Given the description of an element on the screen output the (x, y) to click on. 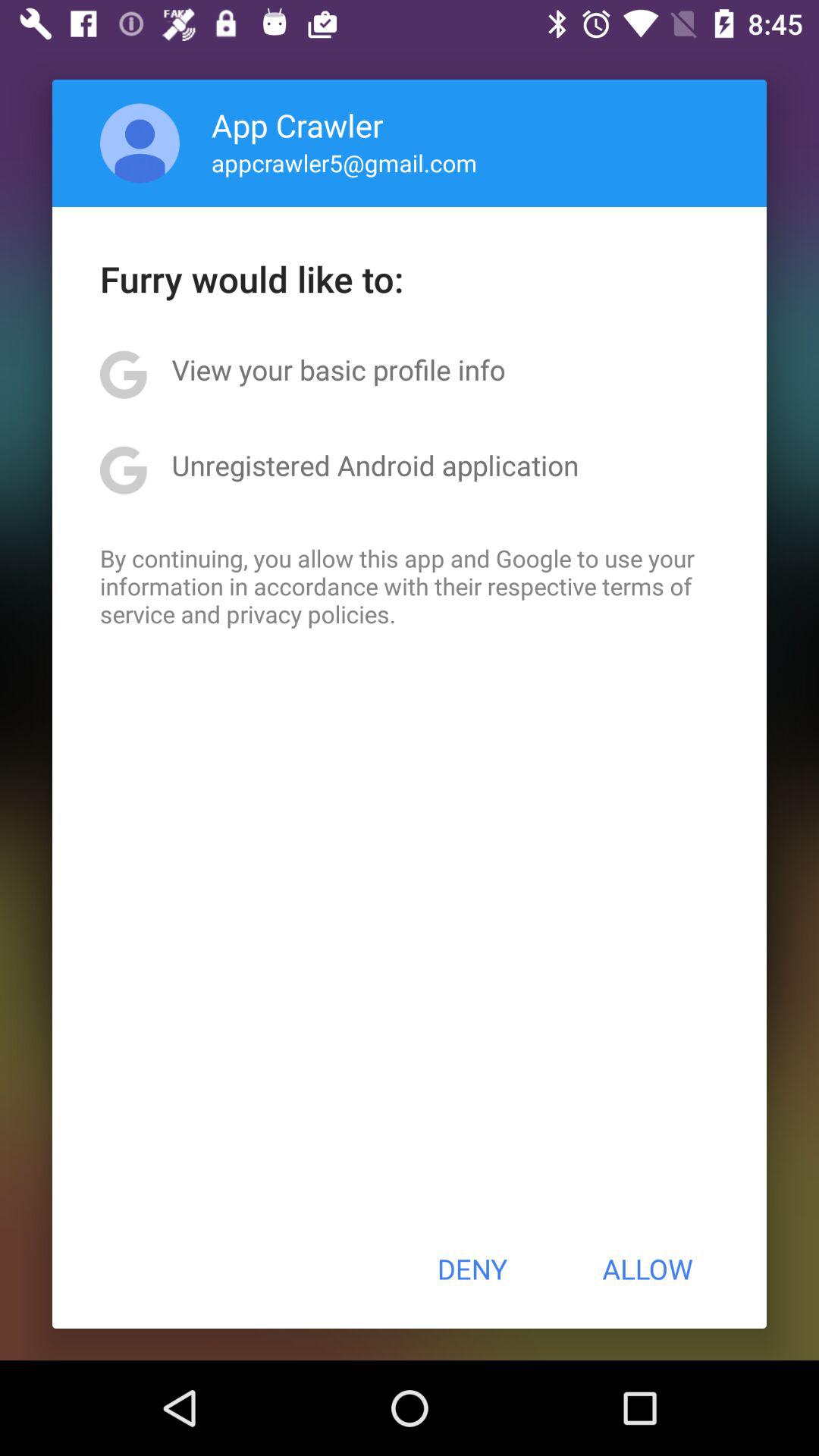
launch the item below furry would like item (338, 369)
